Given the description of an element on the screen output the (x, y) to click on. 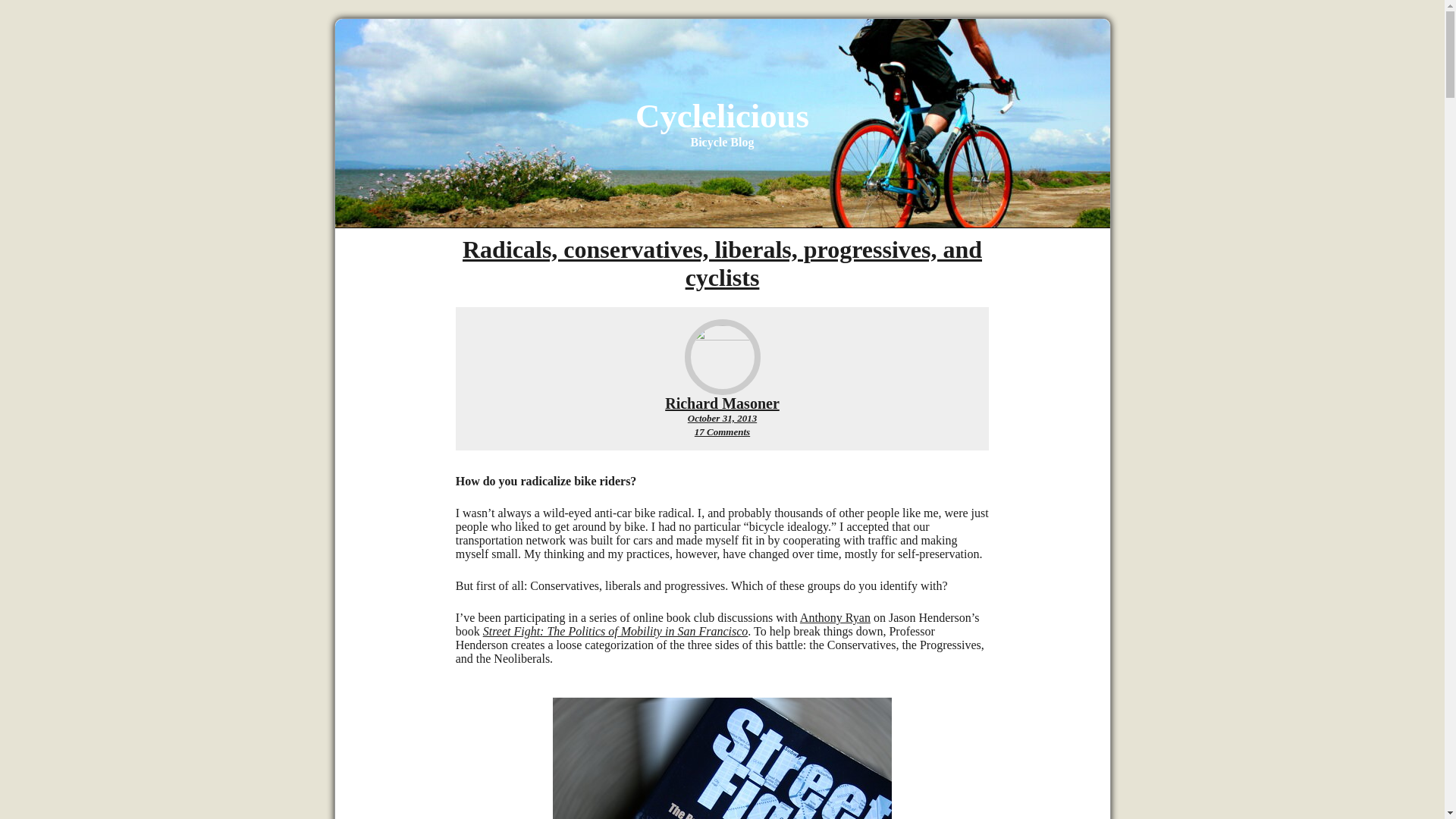
Street Fight: The Politics of Mobility in San Francisco (615, 631)
October 31, 2013 (722, 418)
View all posts by Richard Masoner (721, 402)
Cyclelicious (721, 116)
2:15 pm (722, 418)
Richard Masoner (721, 402)
Anthony Ryan (834, 617)
